Given the description of an element on the screen output the (x, y) to click on. 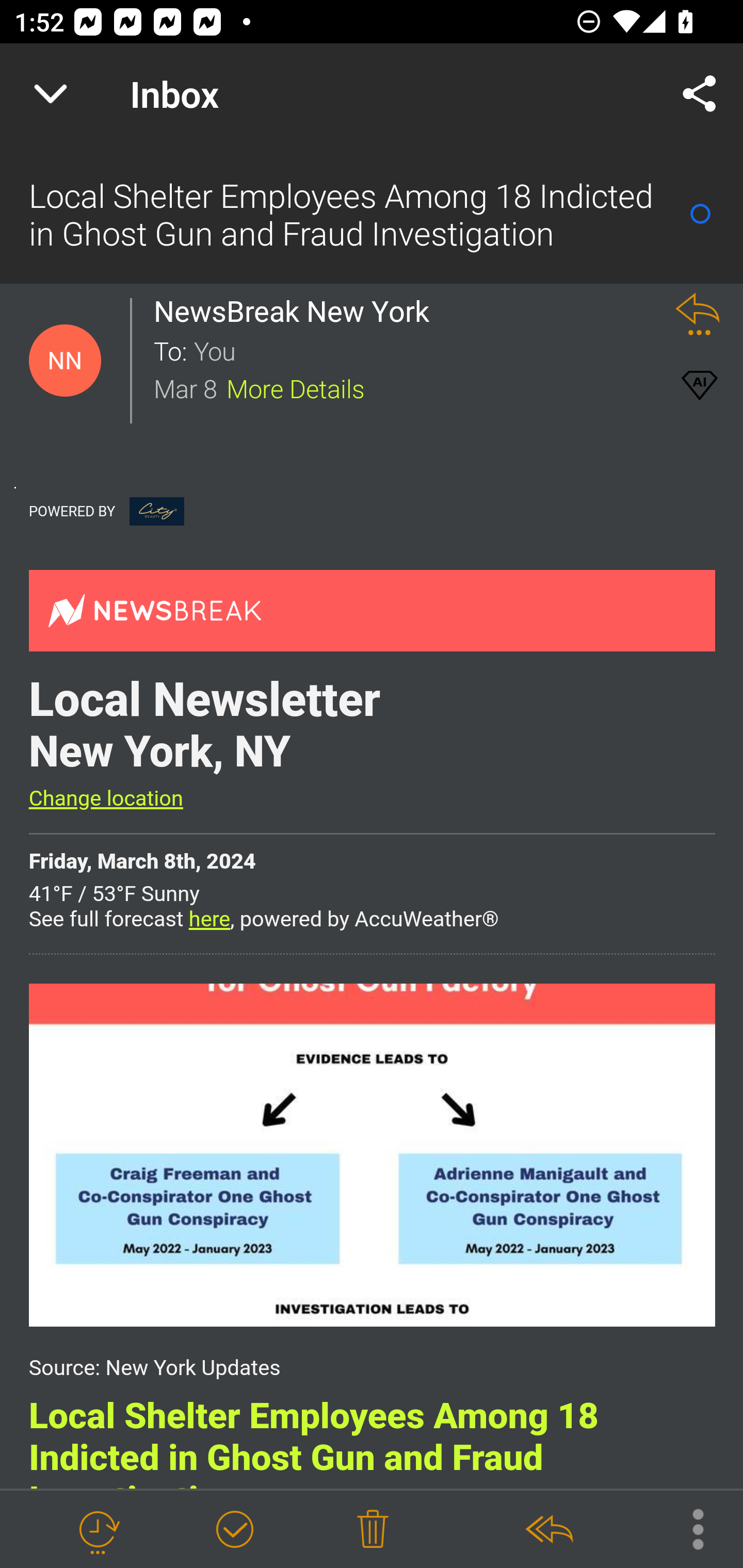
Navigate up (50, 93)
Share (699, 93)
Mark as Read (699, 213)
NewsBreak New York (296, 310)
Contact Details (64, 360)
You (422, 349)
More Details (295, 387)
info (156, 510)
Change location (105, 798)
here (209, 919)
1 local news image (371, 1154)
More Options (687, 1528)
Snooze (97, 1529)
Mark as Done (234, 1529)
Delete (372, 1529)
Reply All (548, 1529)
